Given the description of an element on the screen output the (x, y) to click on. 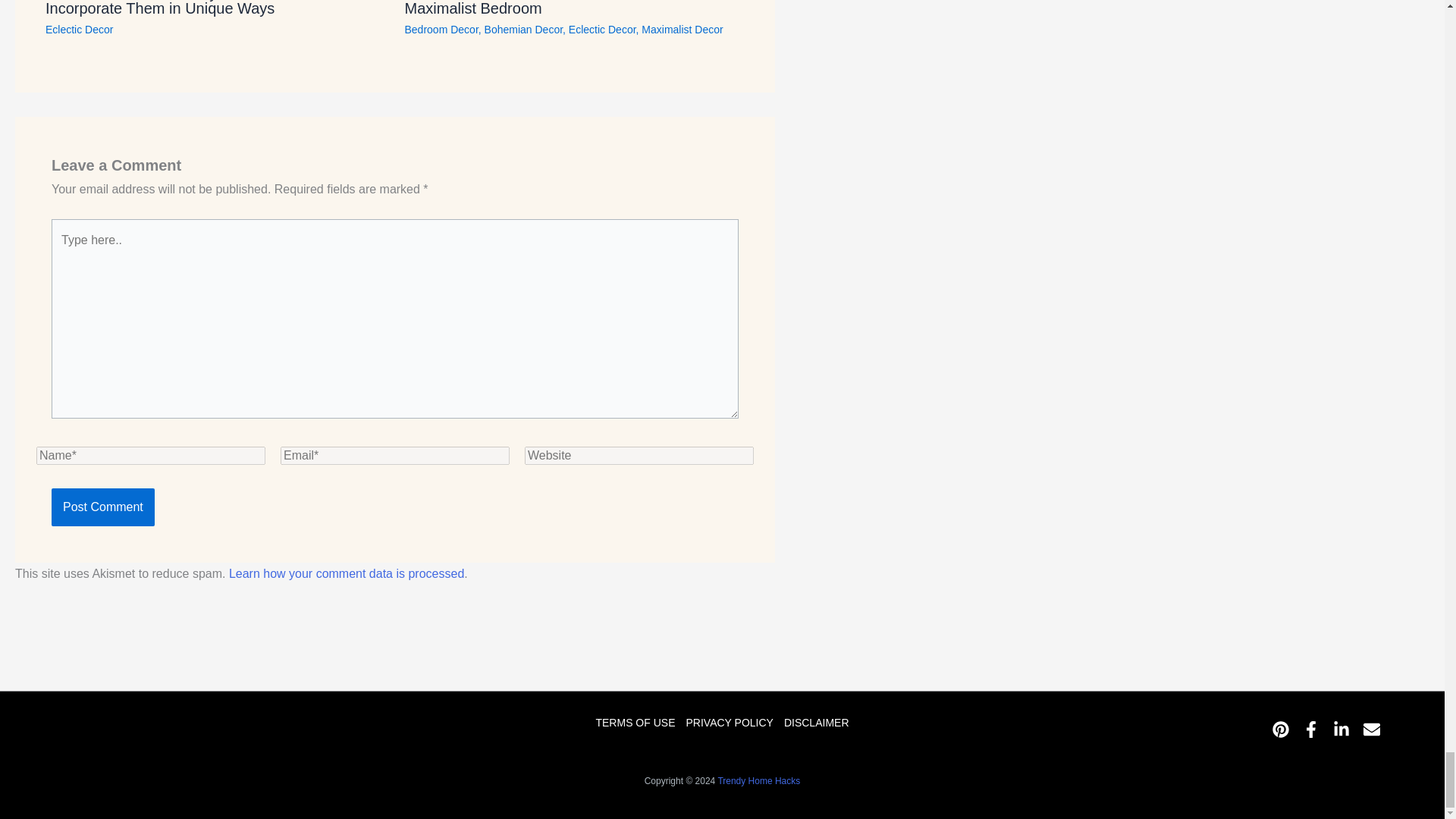
Post Comment (102, 507)
